Given the description of an element on the screen output the (x, y) to click on. 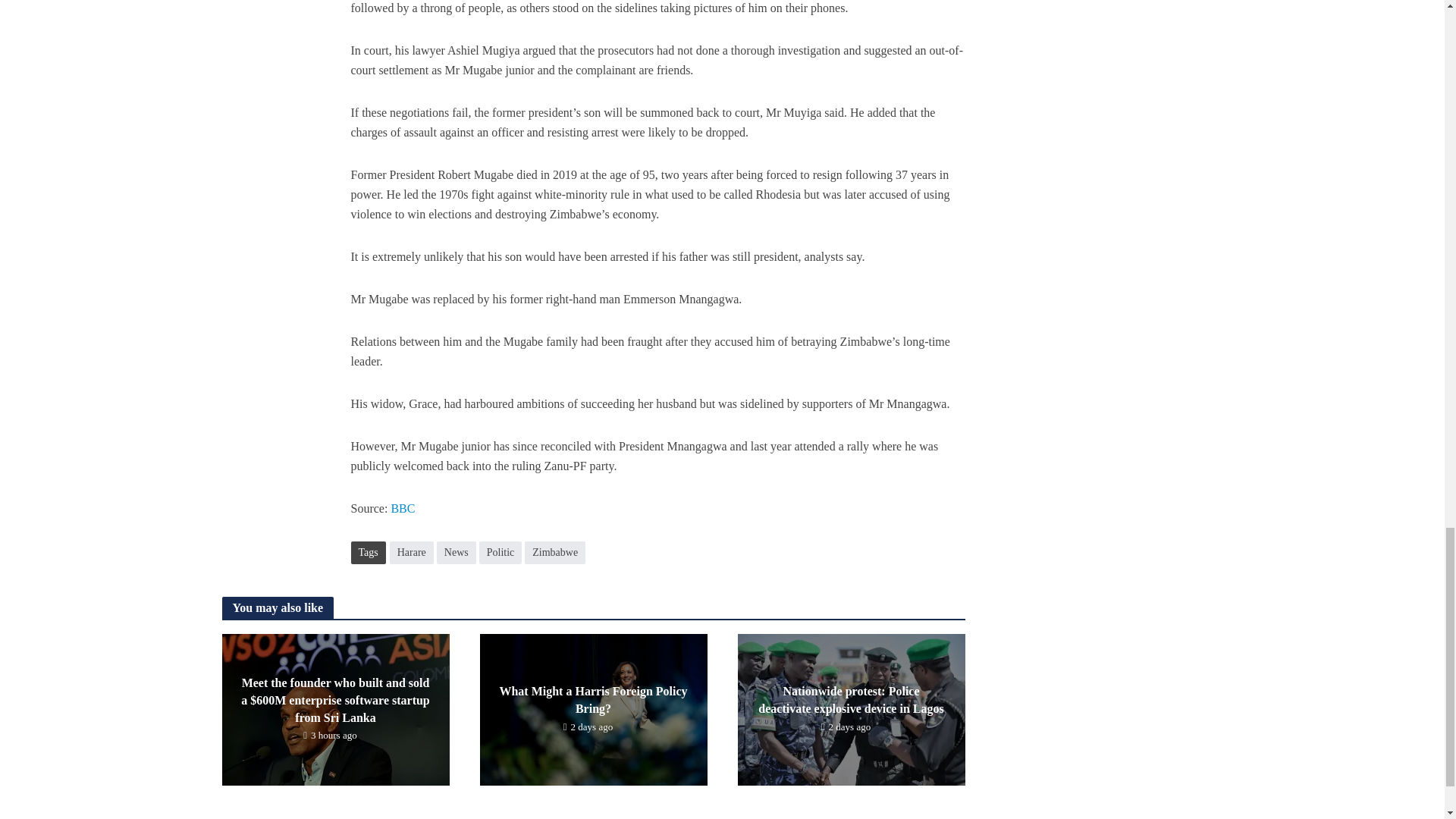
What Might a Harris Foreign Policy Bring? (592, 707)
